Given the description of an element on the screen output the (x, y) to click on. 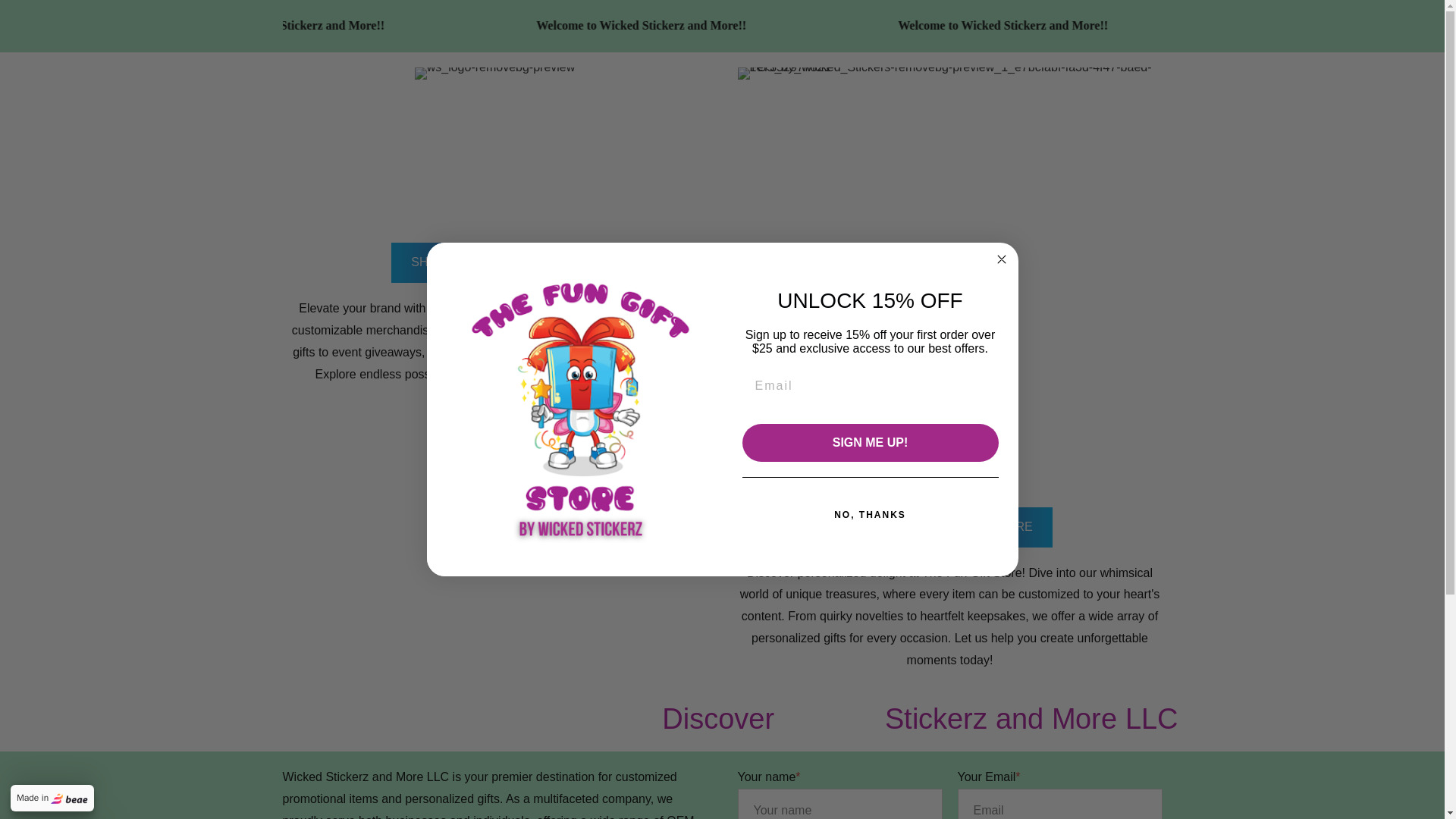
Submit (38, 21)
NO, THANKS (869, 514)
SHOP THE FUN GIFT STORE (949, 526)
SHOP PROMOTIONAL ITEMS (493, 262)
Made in (52, 797)
SIGN ME UP! (869, 442)
